Given the description of an element on the screen output the (x, y) to click on. 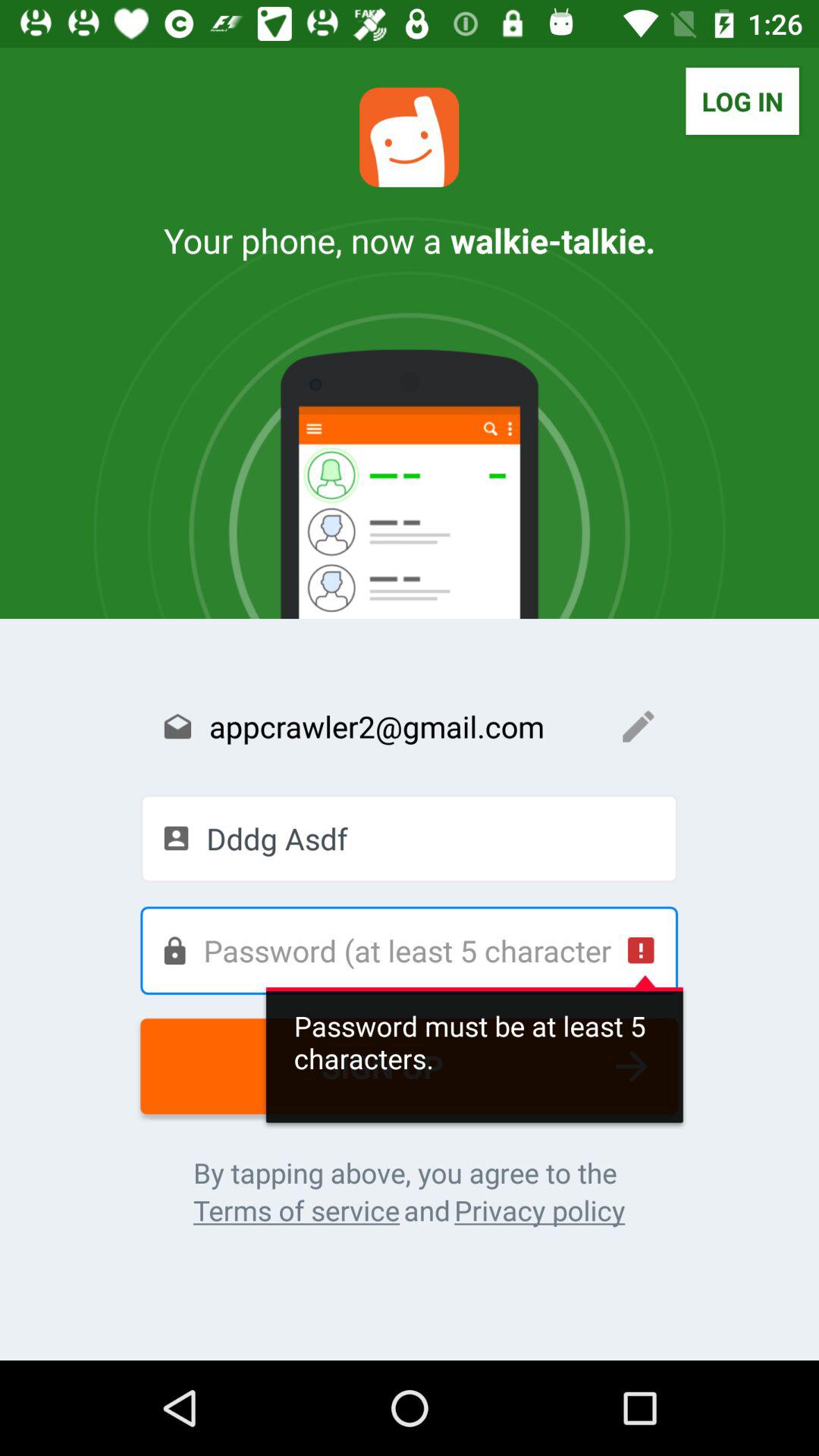
select the field which is below text appcrawler2gmailcom (409, 838)
click on password  box to fill  which is above orange agree box (409, 950)
click log in (742, 100)
click on the text field appcrawler2gmailcom (409, 726)
